Given the description of an element on the screen output the (x, y) to click on. 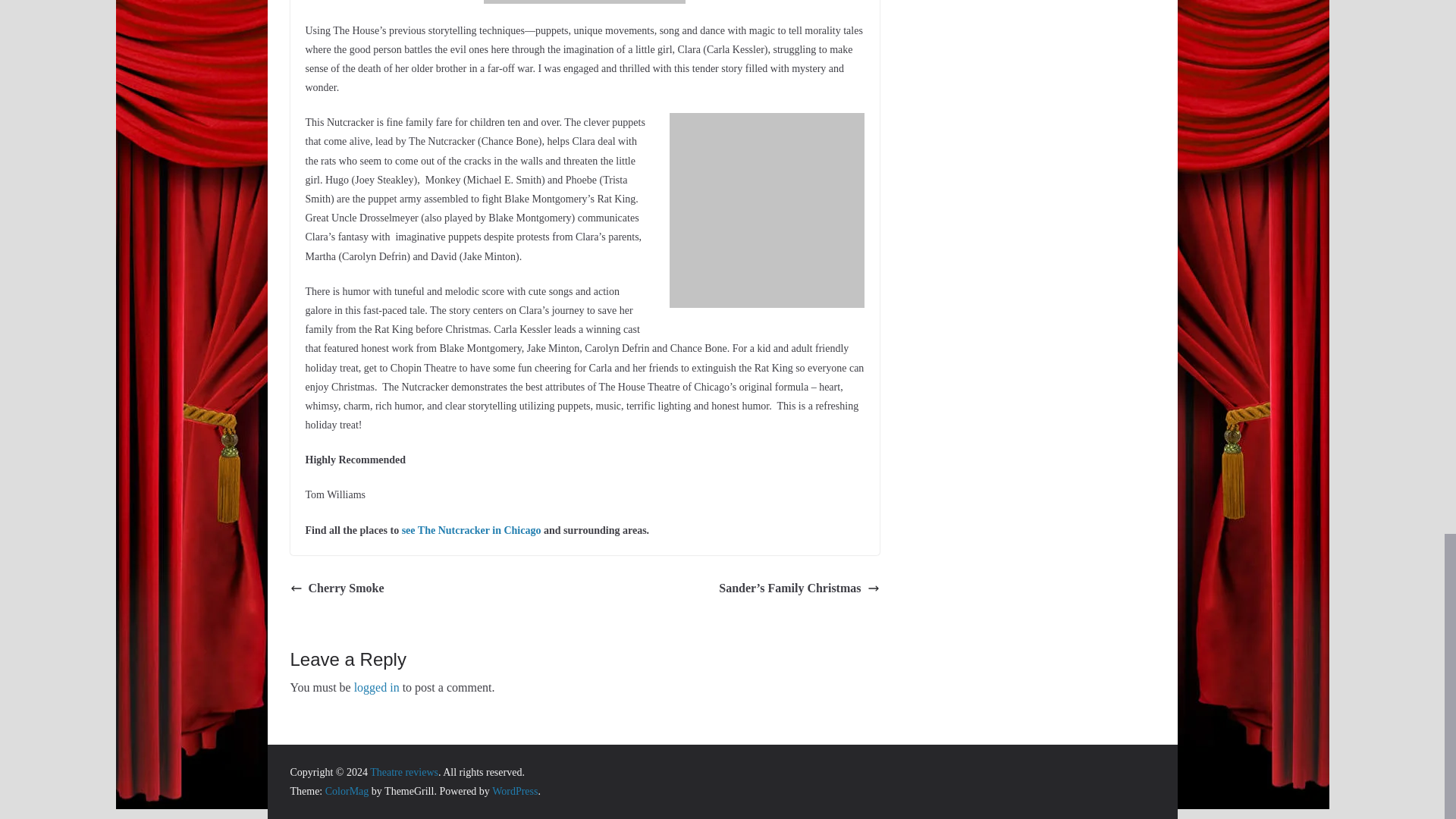
logged in (375, 686)
see The Nutcracker in Chicago (471, 530)
Cherry Smoke (336, 588)
